Given the description of an element on the screen output the (x, y) to click on. 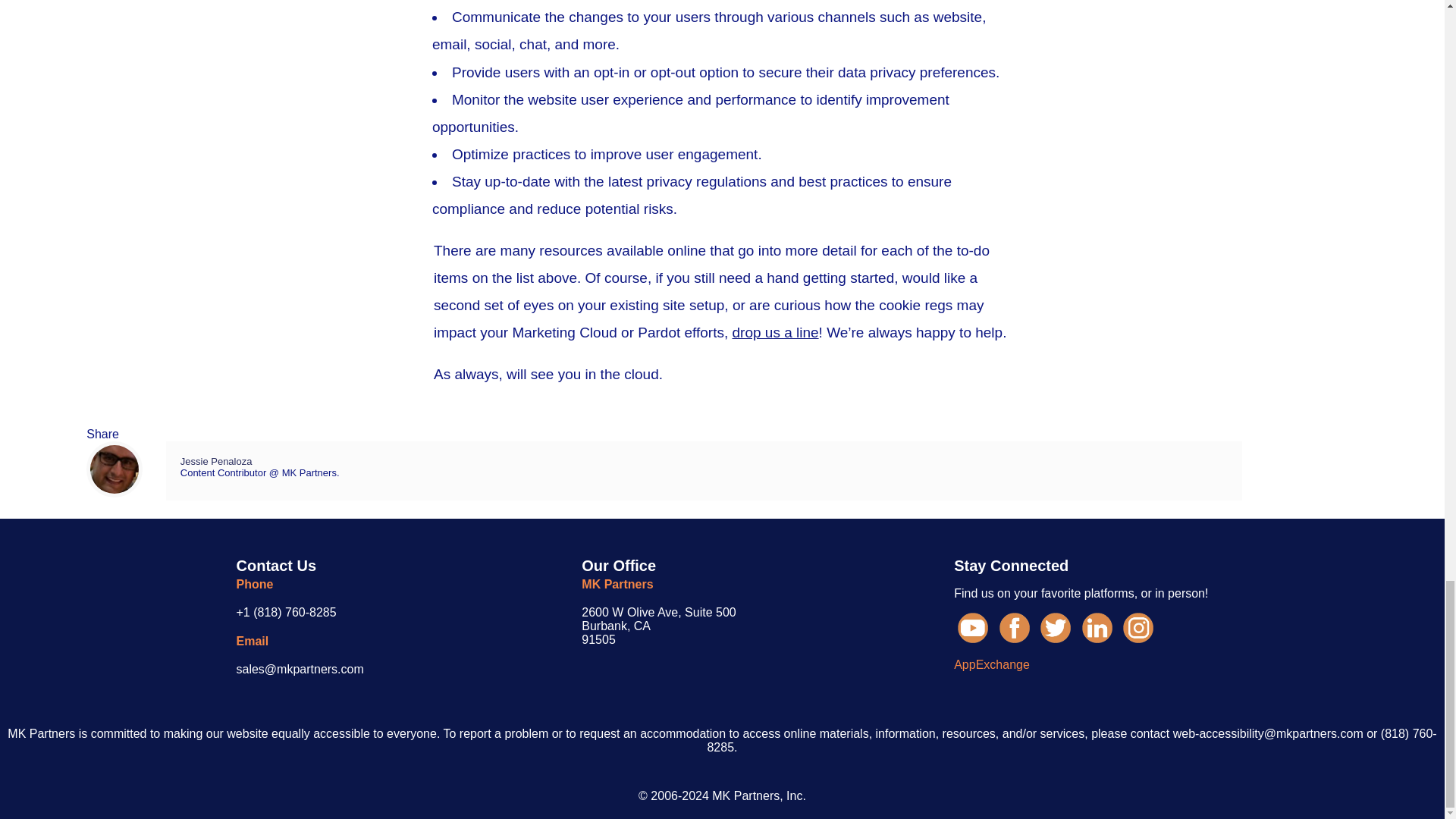
Jessie Penaloza (215, 460)
AppExchange (657, 626)
drop us a line (991, 664)
